Given the description of an element on the screen output the (x, y) to click on. 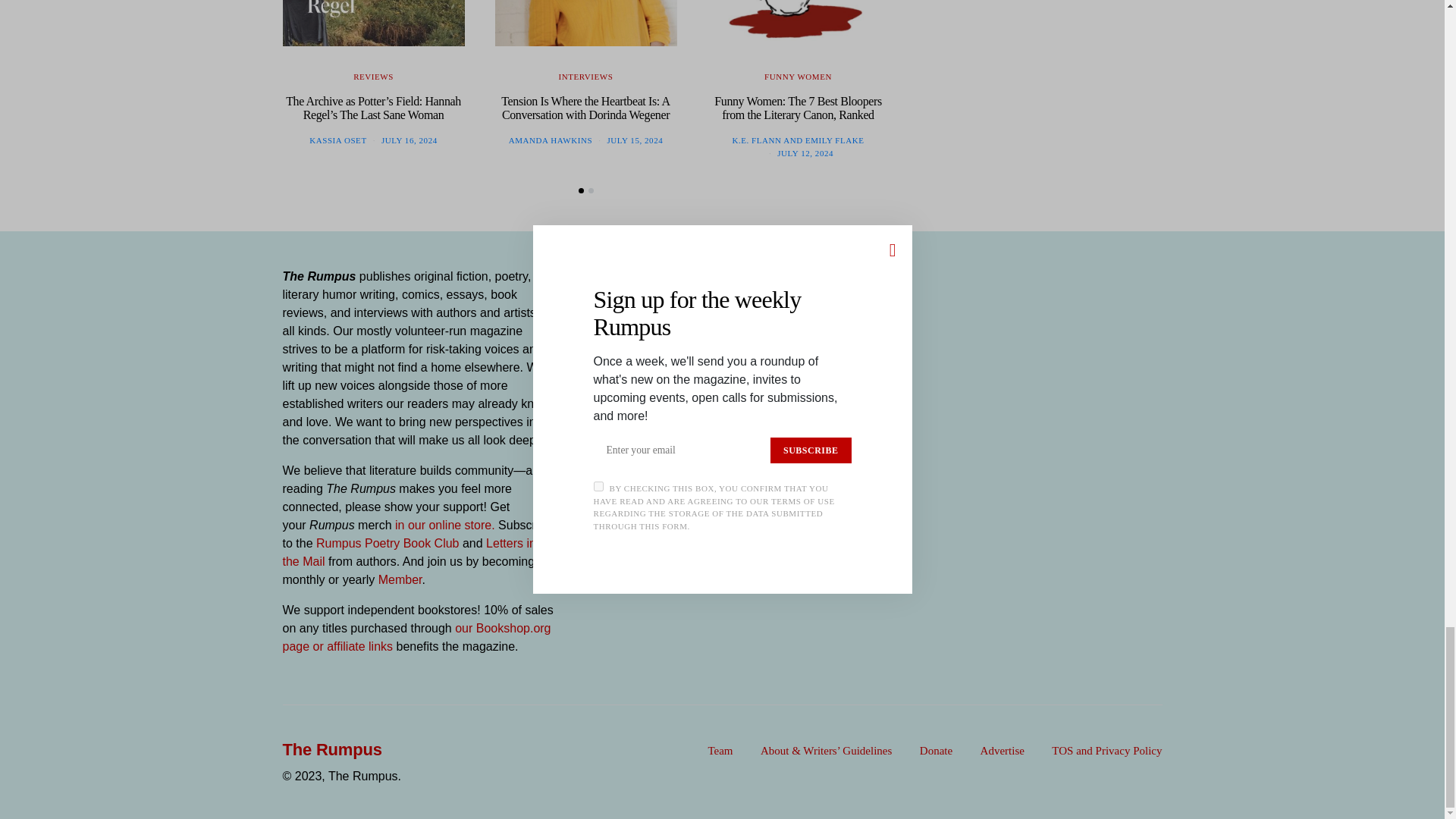
View all posts by Amanda Hawkins (550, 139)
on (590, 374)
View all posts by Kassia Oset (337, 139)
View all posts by K.E. Flann and Emily Flake (797, 139)
